Given the description of an element on the screen output the (x, y) to click on. 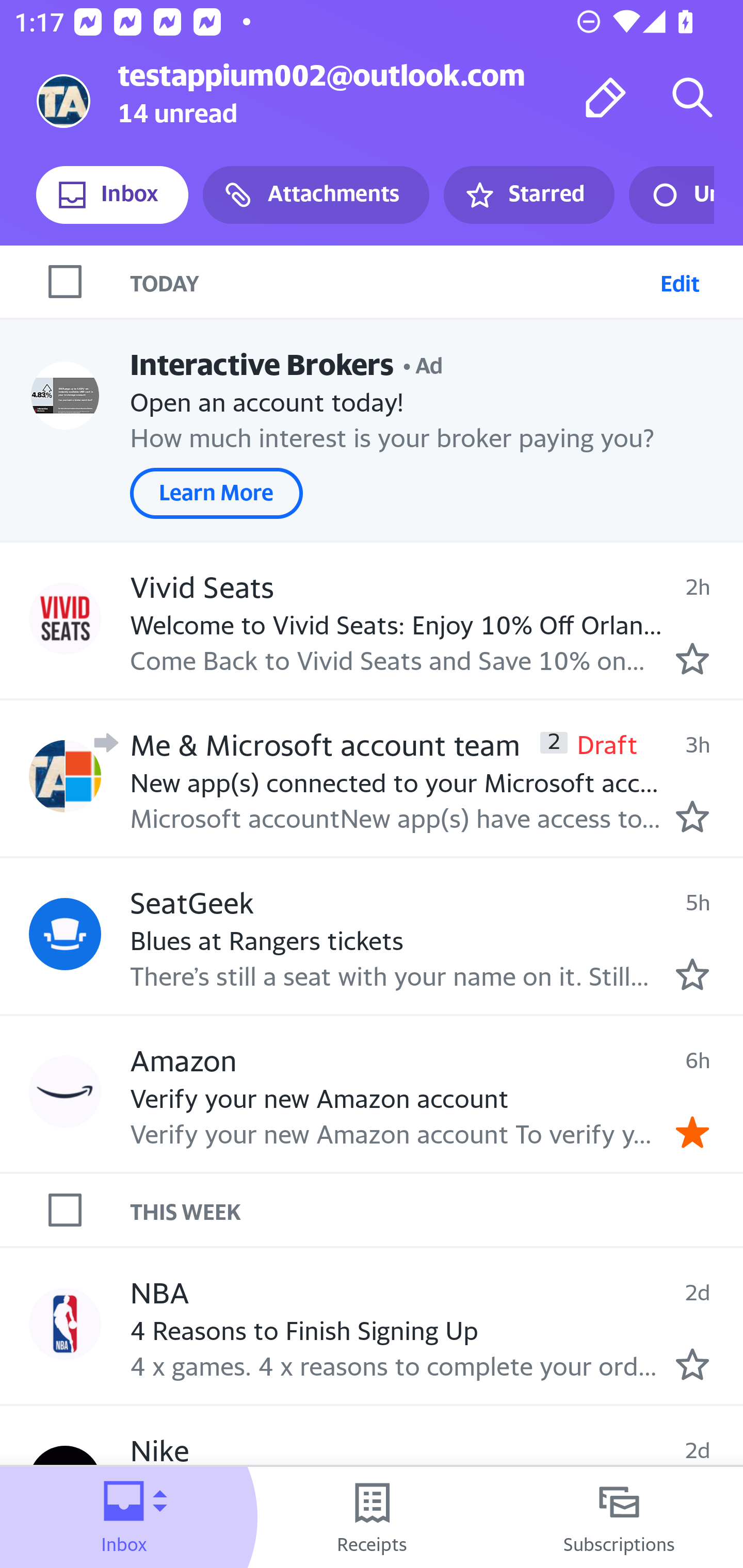
Compose (605, 97)
Search mail (692, 97)
Attachments (315, 195)
Starred (528, 195)
TODAY (391, 281)
Edit Select emails (679, 281)
Profile
Vivid Seats (64, 617)
Mark as starred. (692, 659)
Profile
Me & Microsoft account team (64, 776)
Mark as starred. (692, 816)
Profile
SeatGeek (64, 934)
Mark as starred. (692, 974)
Profile
Amazon (64, 1091)
Remove star. (692, 1132)
THIS WEEK (436, 1209)
Profile
NBA (64, 1323)
Mark as starred. (692, 1364)
Inbox Folder picker (123, 1517)
Receipts (371, 1517)
Subscriptions (619, 1517)
